Given the description of an element on the screen output the (x, y) to click on. 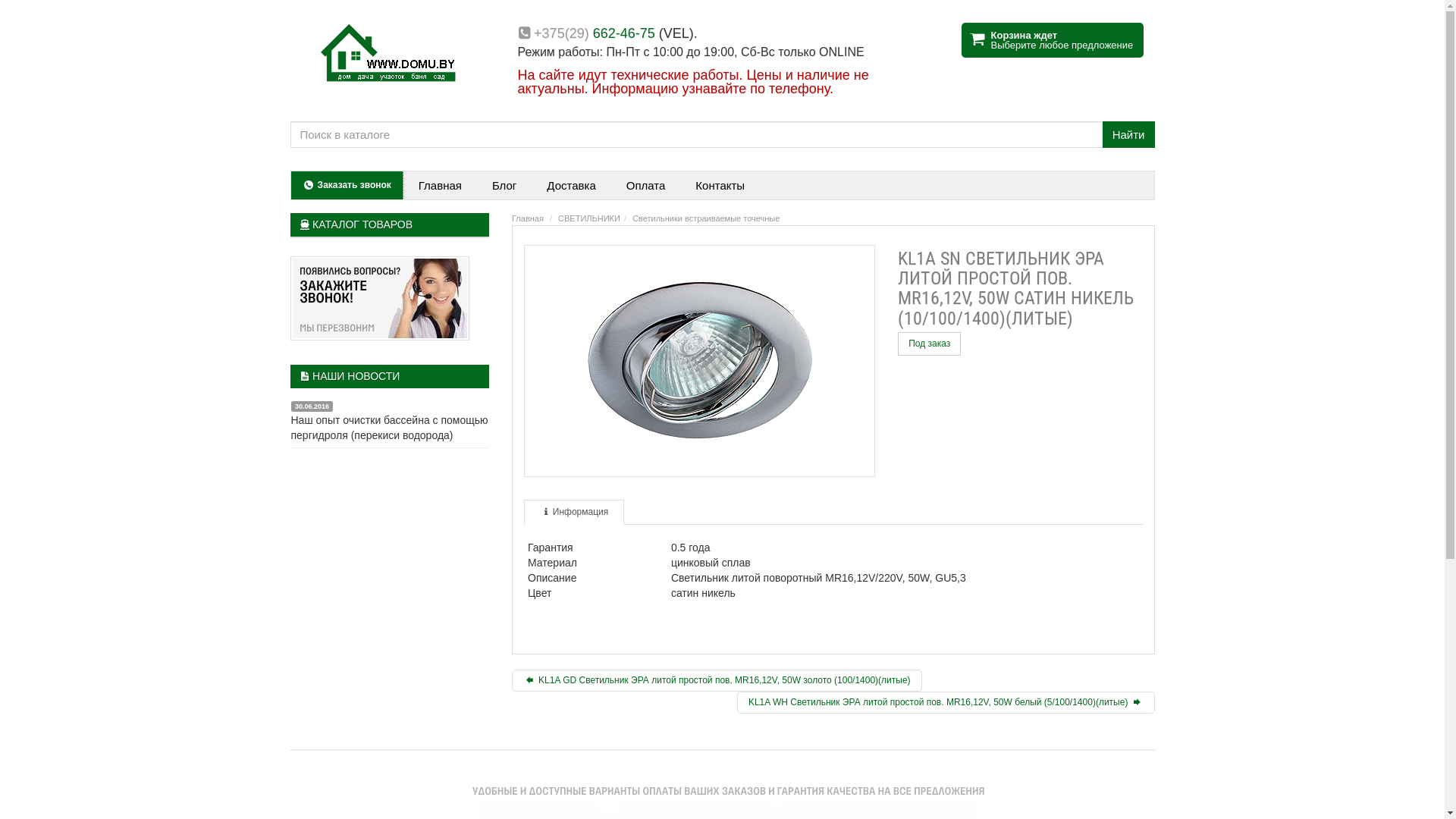
+375(29) 662-46-75 Element type: text (594, 32)
